Given the description of an element on the screen output the (x, y) to click on. 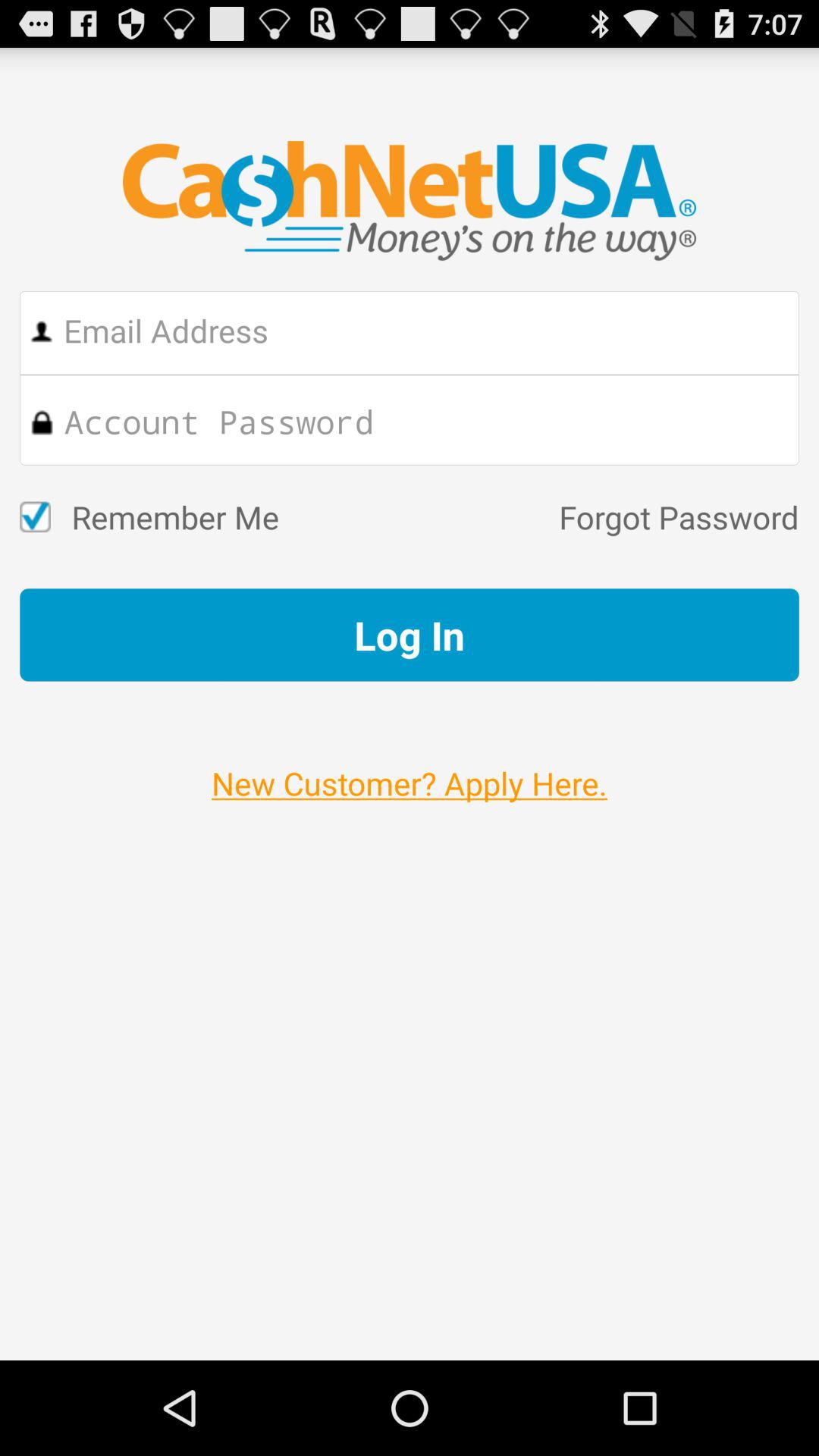
tap the icon below log in button (409, 767)
